Given the description of an element on the screen output the (x, y) to click on. 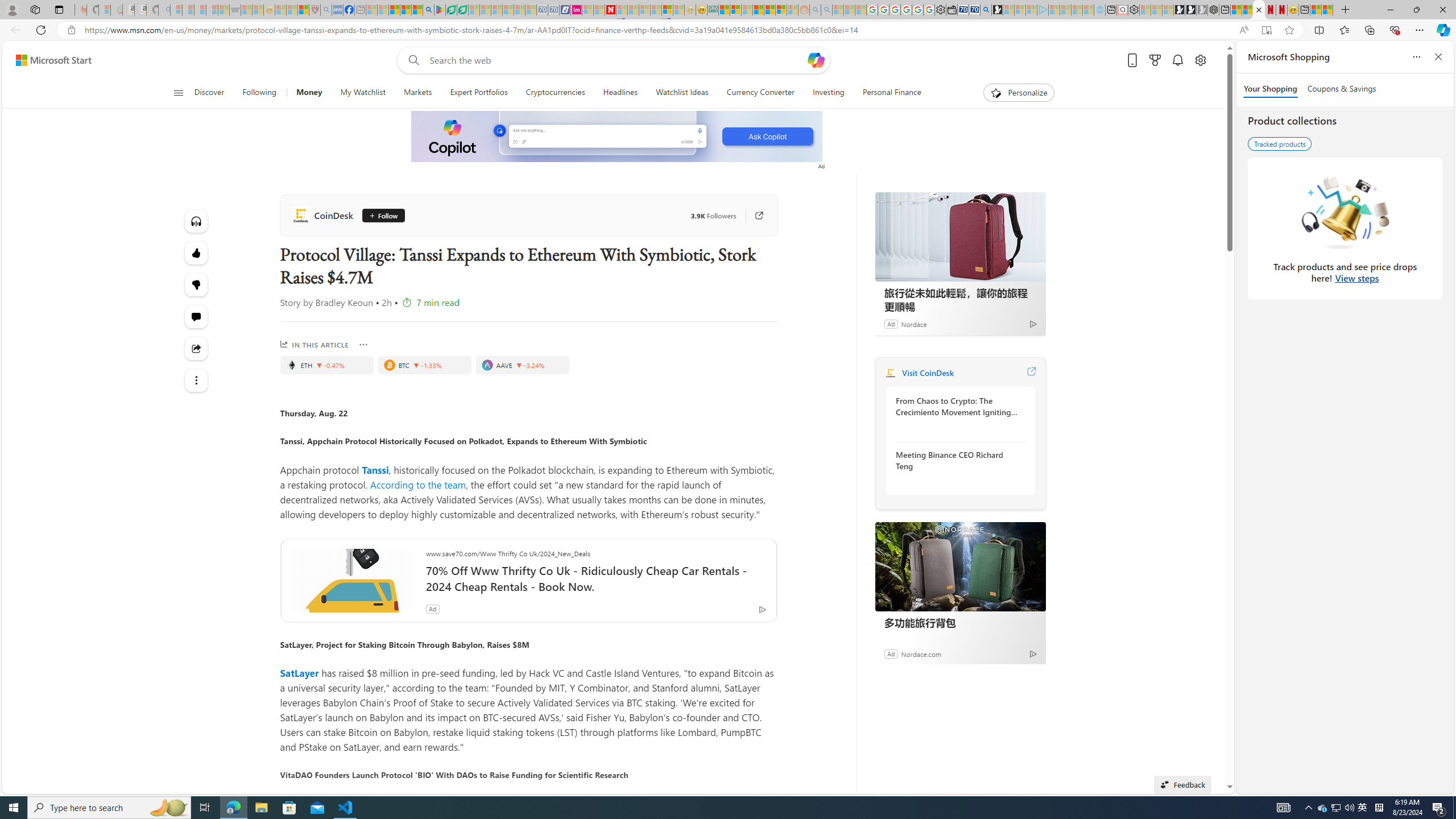
Visit CoinDesk website (1031, 372)
Class: at-item (196, 380)
Bluey: Let's Play! - Apps on Google Play (439, 9)
